Given the description of an element on the screen output the (x, y) to click on. 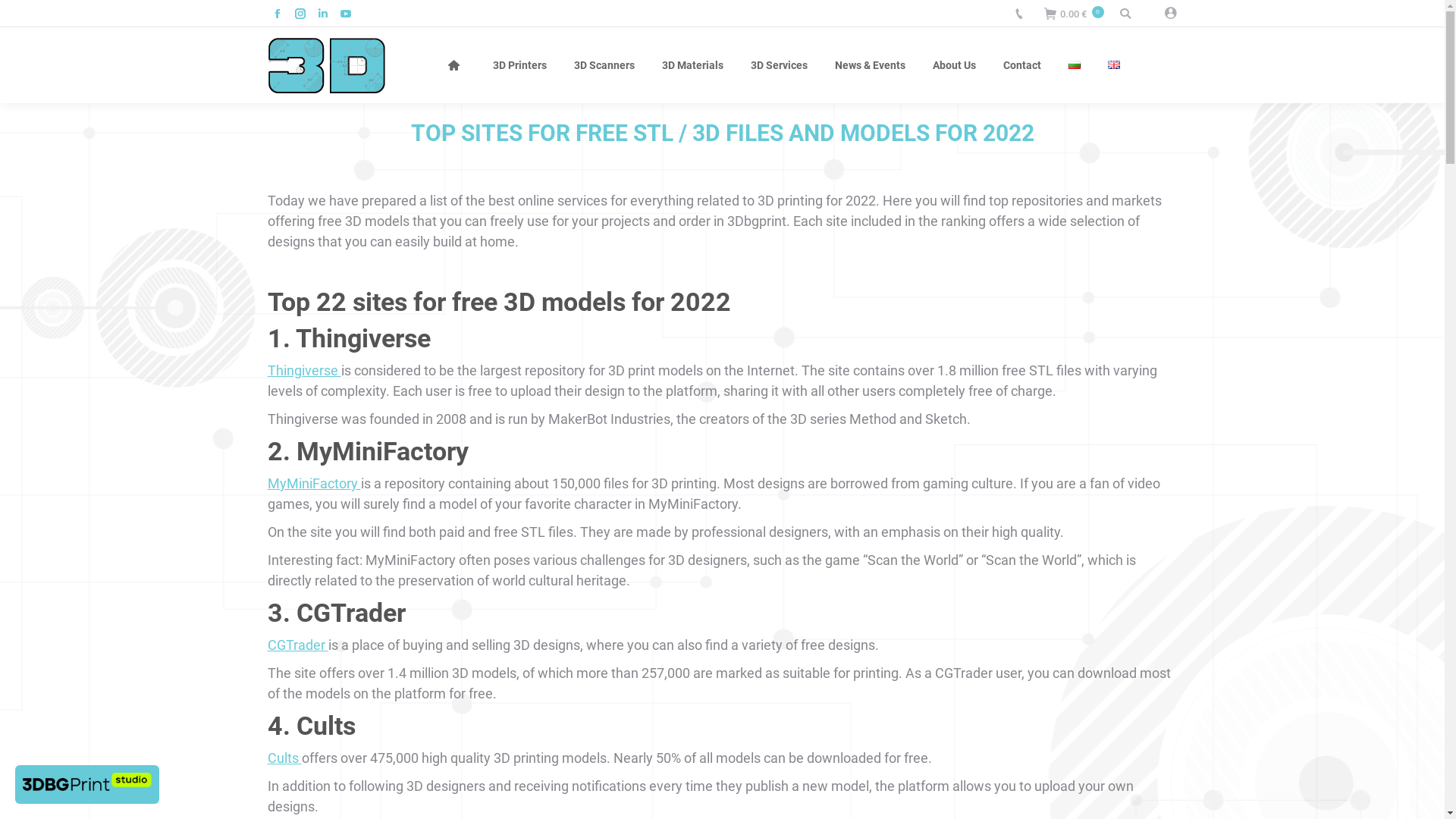
Thingiverse Element type: text (303, 370)
Cults Element type: text (283, 757)
3D Materials Element type: text (692, 64)
3D Scanners Element type: text (604, 64)
YouTube Element type: text (344, 13)
MyMiniFactory Element type: text (313, 483)
About Us Element type: text (954, 64)
3D Printers Element type: text (519, 64)
Go! Element type: text (21, 14)
Contact Element type: text (1022, 64)
  Element type: text (1164, 13)
Instagram Element type: text (299, 13)
News & Events Element type: text (869, 64)
3D Services Element type: text (778, 64)
Post Comment Element type: text (49, 14)
Linkedin Element type: text (322, 13)
Facebook Element type: text (276, 13)
  Element type: text (1128, 13)
CGTrader Element type: text (296, 644)
